Given the description of an element on the screen output the (x, y) to click on. 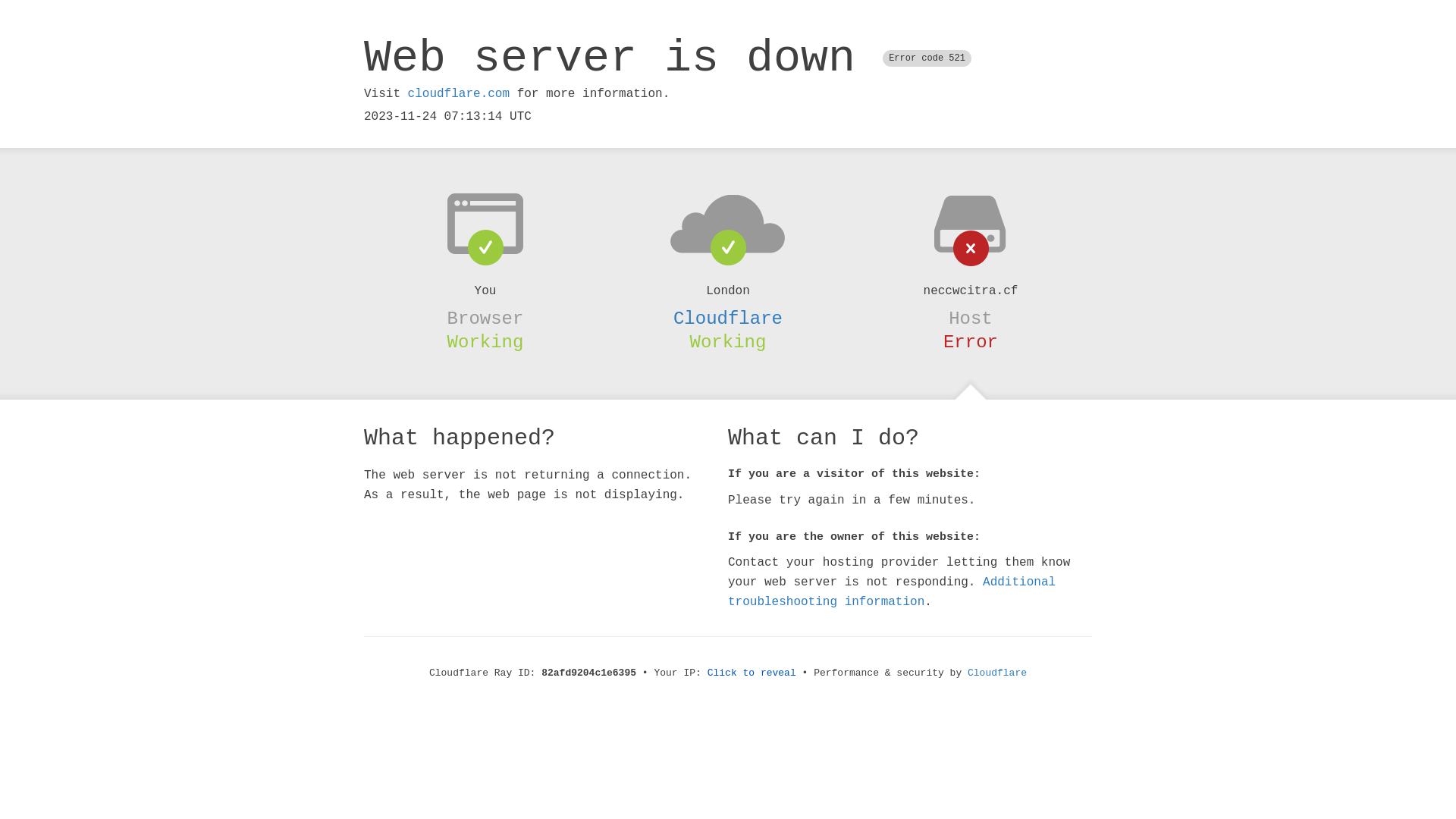
cloudflare.com Element type: text (458, 93)
Cloudflare Element type: text (996, 672)
Additional troubleshooting information Element type: text (891, 591)
Cloudflare Element type: text (727, 318)
Click to reveal Element type: text (751, 672)
